Given the description of an element on the screen output the (x, y) to click on. 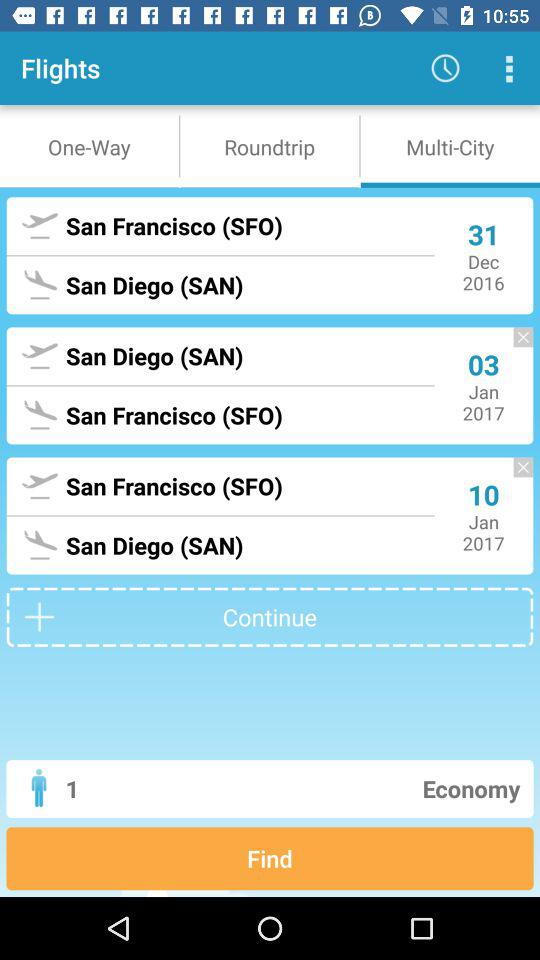
click to close (513, 346)
